Given the description of an element on the screen output the (x, y) to click on. 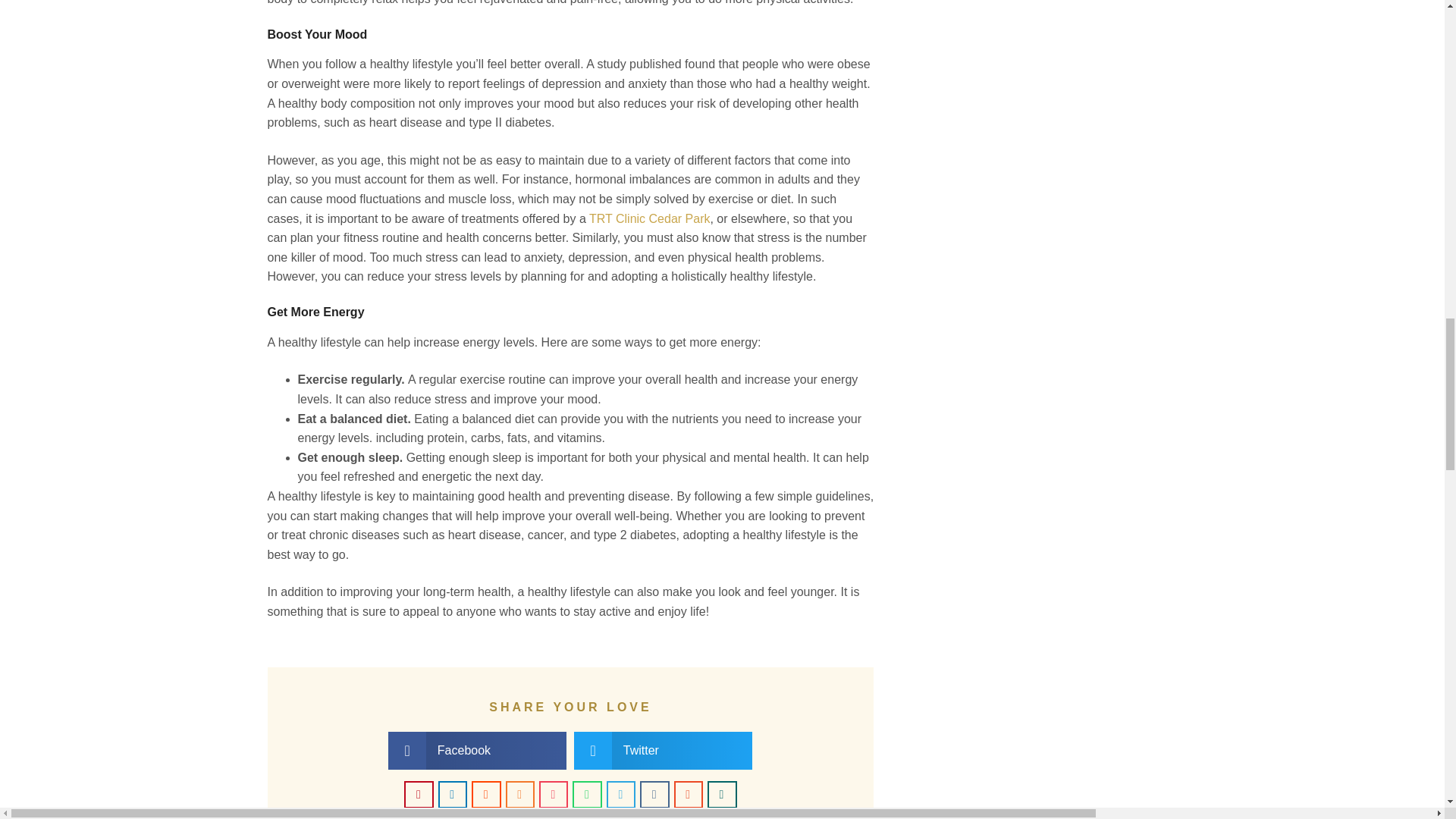
TRT Clinic Cedar Park (649, 218)
